Given the description of an element on the screen output the (x, y) to click on. 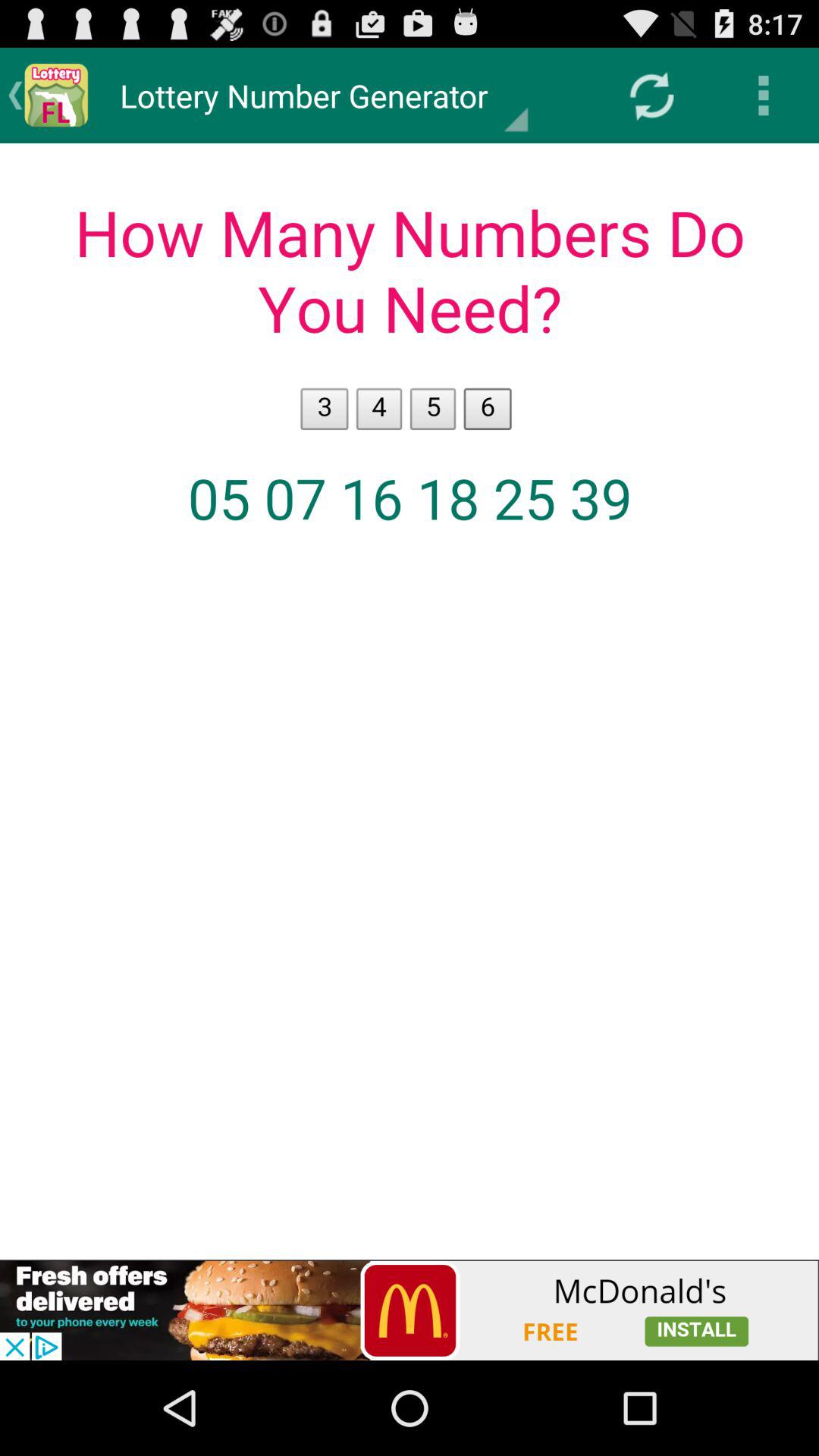
advertisement page (409, 1310)
